Given the description of an element on the screen output the (x, y) to click on. 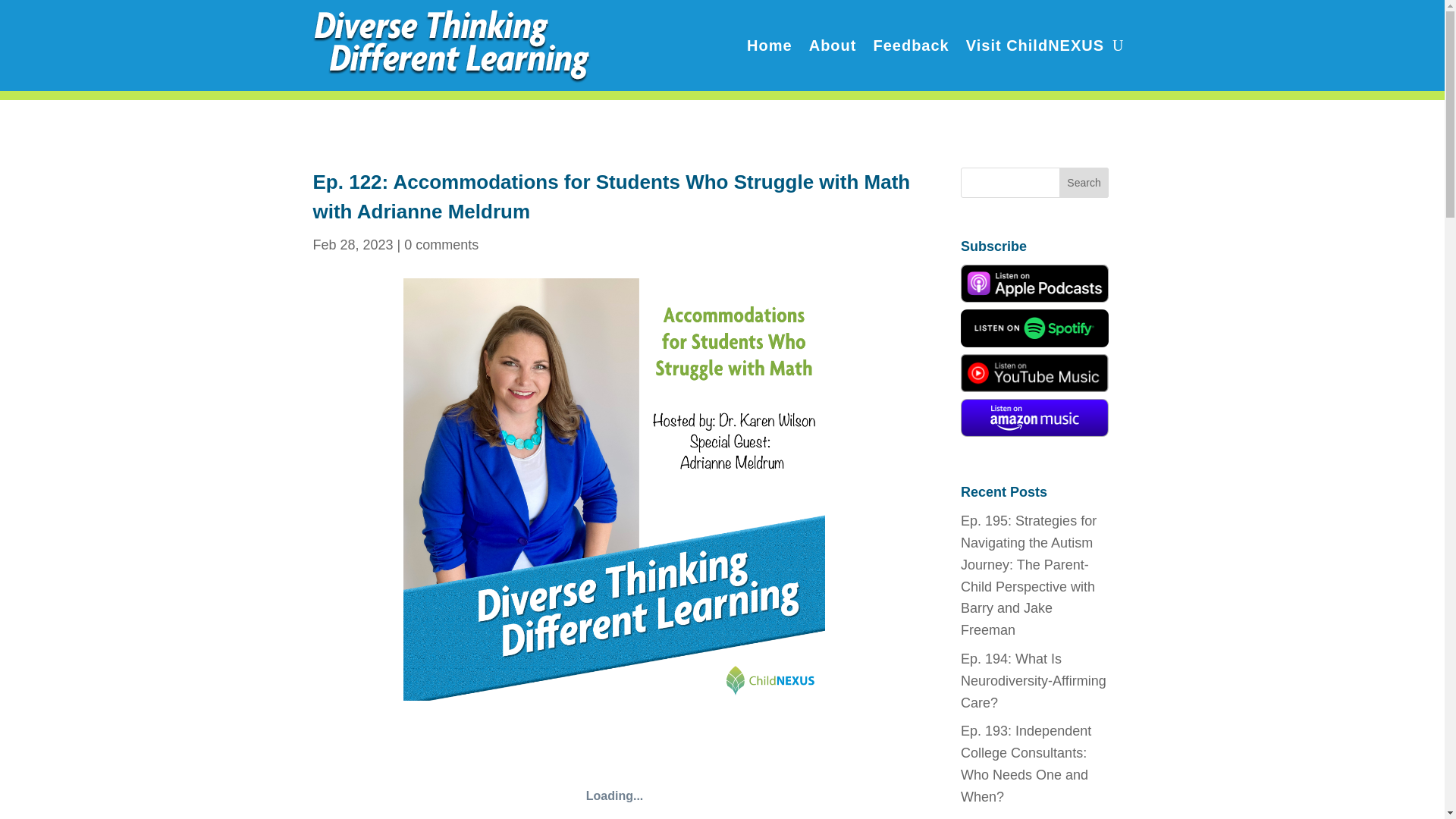
YouTube Music (1034, 372)
Spotify (1034, 417)
Embed Player (614, 771)
Visit ChildNEXUS (1034, 45)
0 comments (441, 244)
Spotify (1034, 328)
Ep. 194: What Is Neurodiversity-Affirming Care? (1033, 680)
Apple Podcast (1034, 283)
Search (1084, 182)
Feedback (910, 45)
Search (1084, 182)
